Given the description of an element on the screen output the (x, y) to click on. 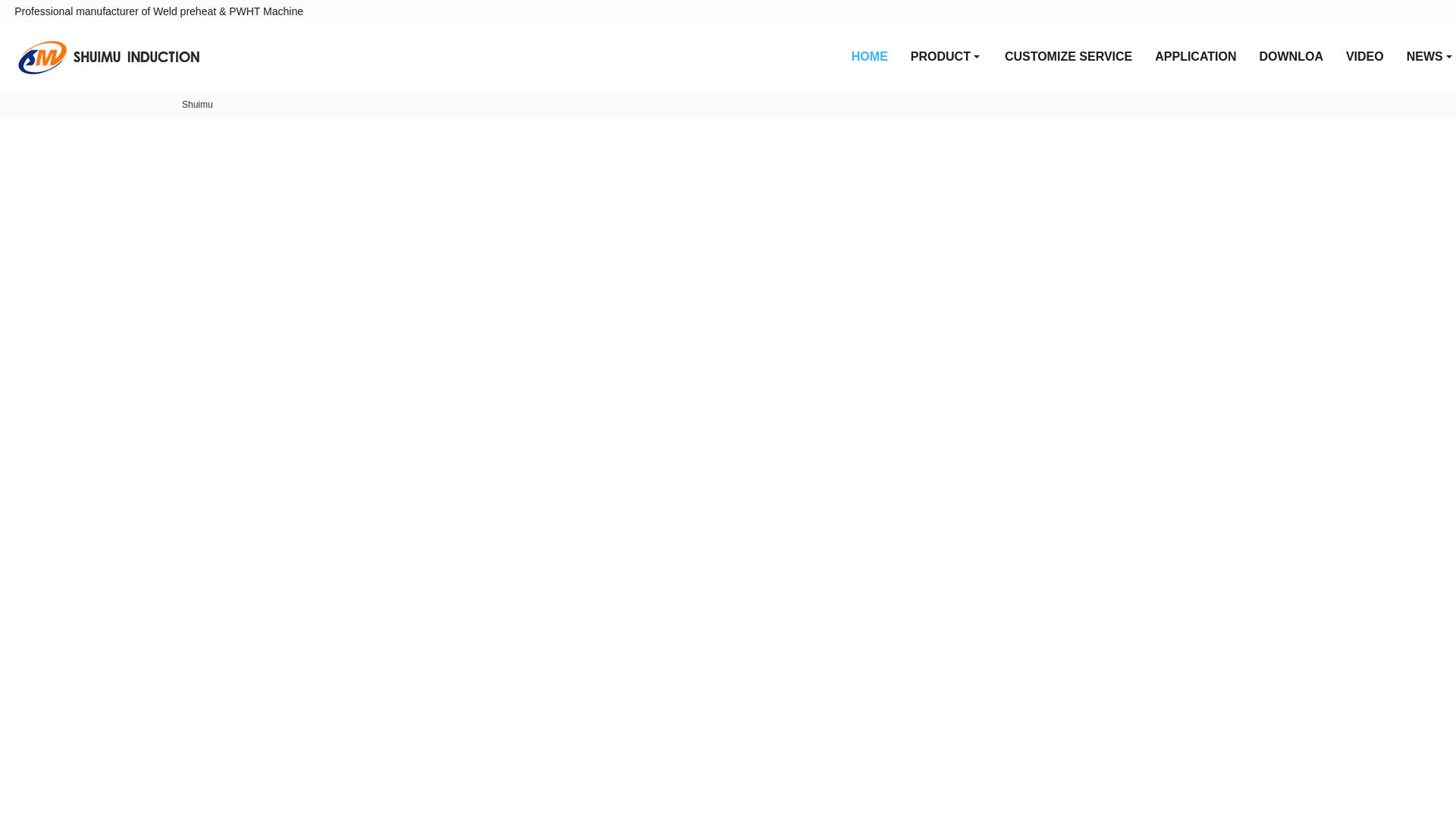
NEWS (1425, 56)
DOWNLOA (1291, 56)
CUSTOMIZE SERVICE (1067, 56)
APPLICATION (1194, 56)
Shuimu (197, 104)
PRODUCT (945, 56)
